Given the description of an element on the screen output the (x, y) to click on. 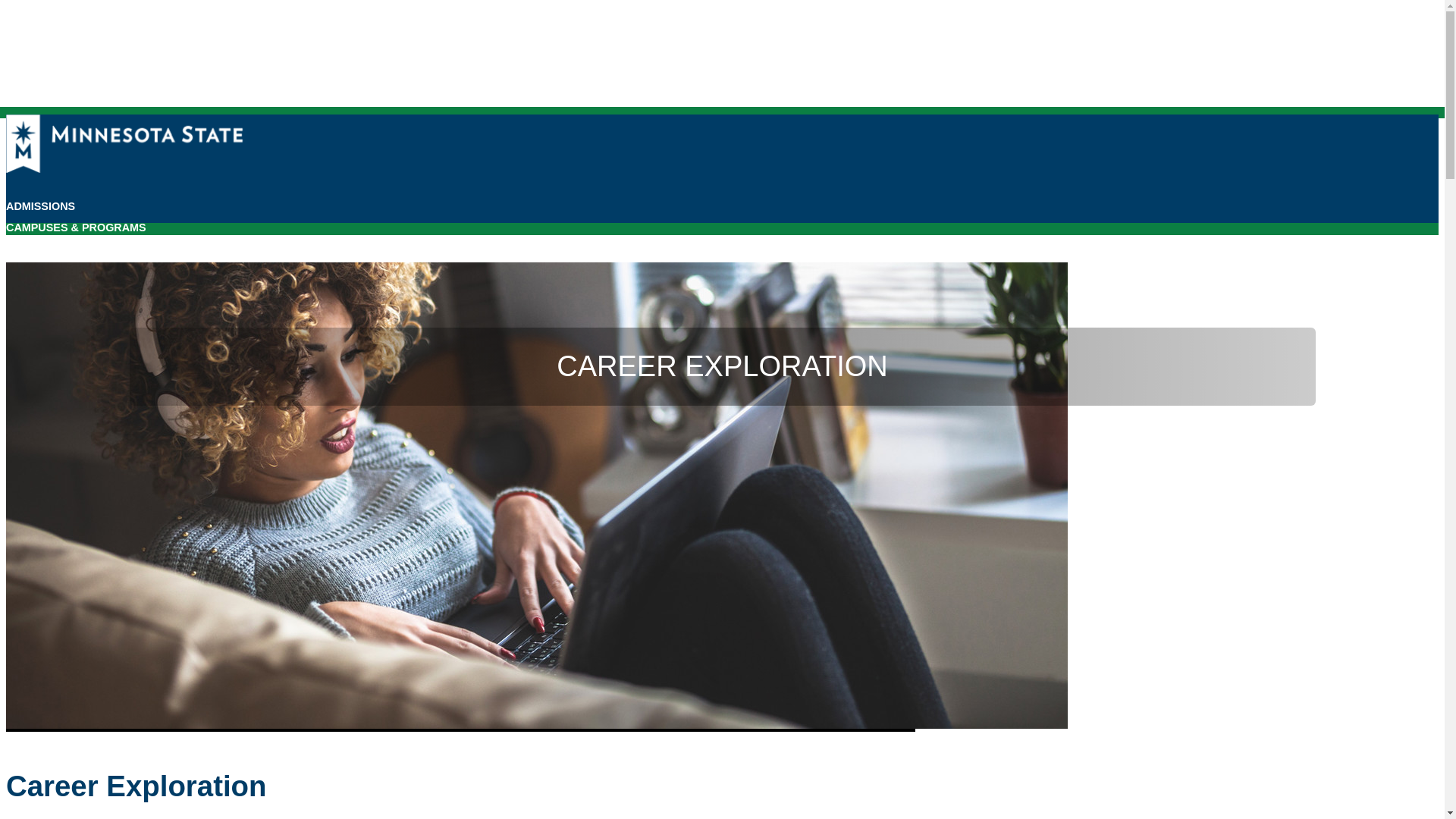
ADMISSIONS (40, 206)
ASK US (25, 269)
Minnesota State Campuses and Programs (76, 227)
Ask Us for Help (25, 269)
Minnesota State Admissions (40, 206)
Minnesota State homepage (124, 168)
Career-Related Information for Prospective Students (69, 248)
CAREER EXPLORATION (69, 248)
